Given the description of an element on the screen output the (x, y) to click on. 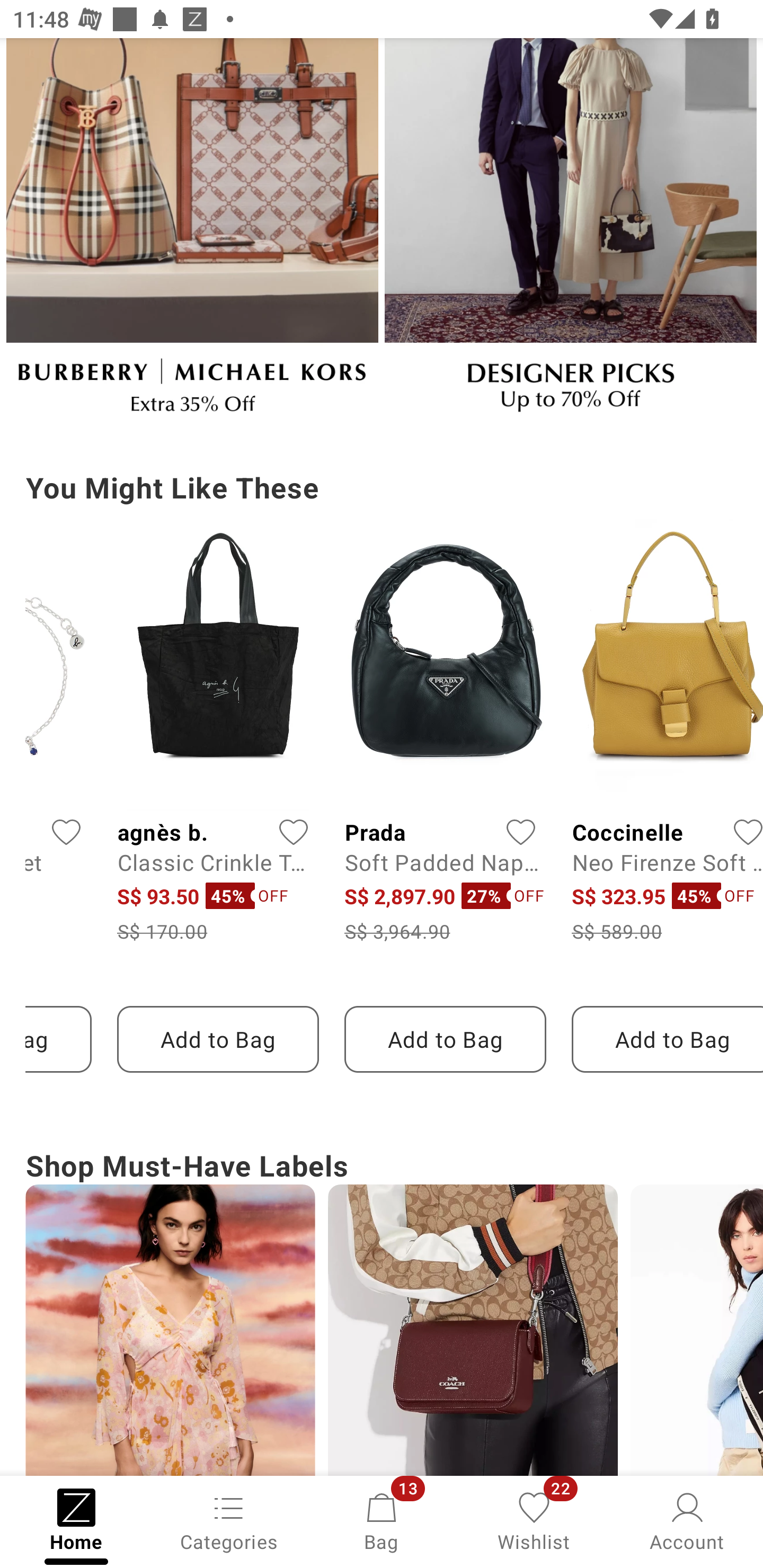
Campaign banner (192, 233)
Campaign banner (570, 233)
Add to Bag (217, 1039)
Add to Bag (445, 1039)
Add to Bag (667, 1039)
Campaign banner (170, 1329)
Campaign banner (473, 1329)
Campaign banner (696, 1329)
Categories (228, 1519)
Bag, 13 new notifications Bag (381, 1519)
Wishlist, 22 new notifications Wishlist (533, 1519)
Account (686, 1519)
